Given the description of an element on the screen output the (x, y) to click on. 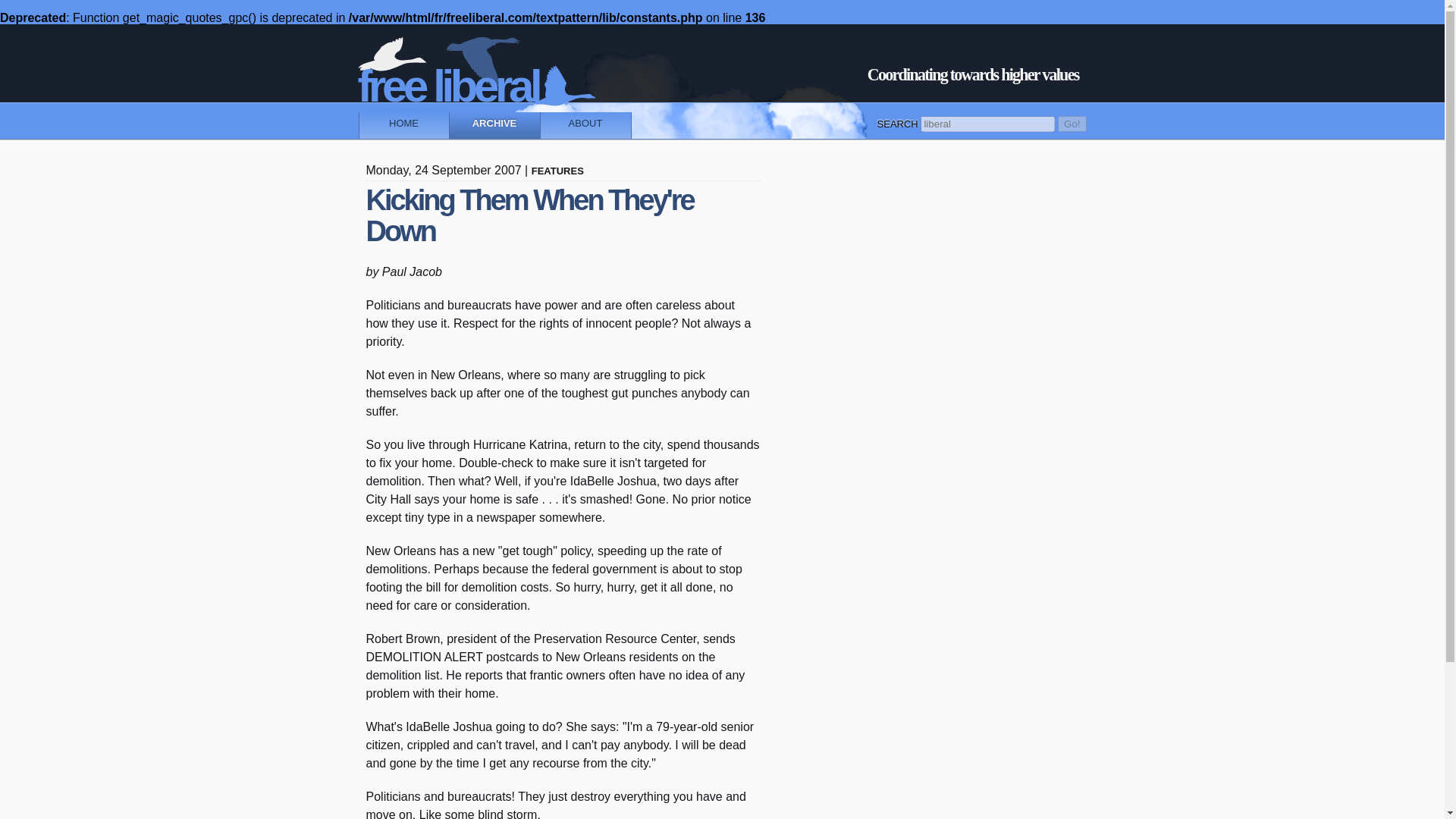
Go! (1072, 123)
HOME (403, 125)
ABOUT (585, 125)
Go! (1072, 123)
free liberal (510, 72)
ARCHIVE (494, 125)
